Given the description of an element on the screen output the (x, y) to click on. 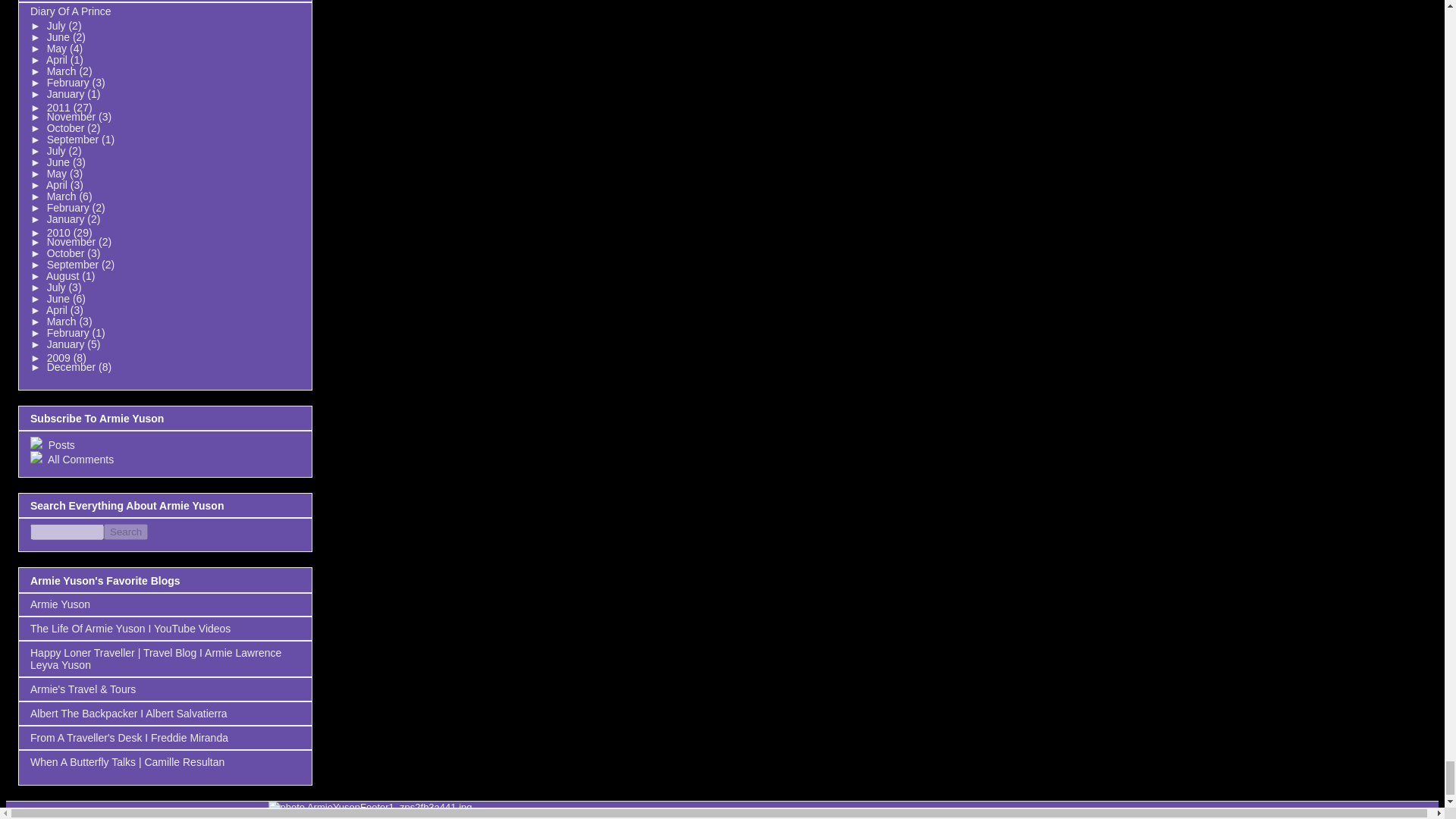
Search (125, 531)
Search (125, 531)
